Given the description of an element on the screen output the (x, y) to click on. 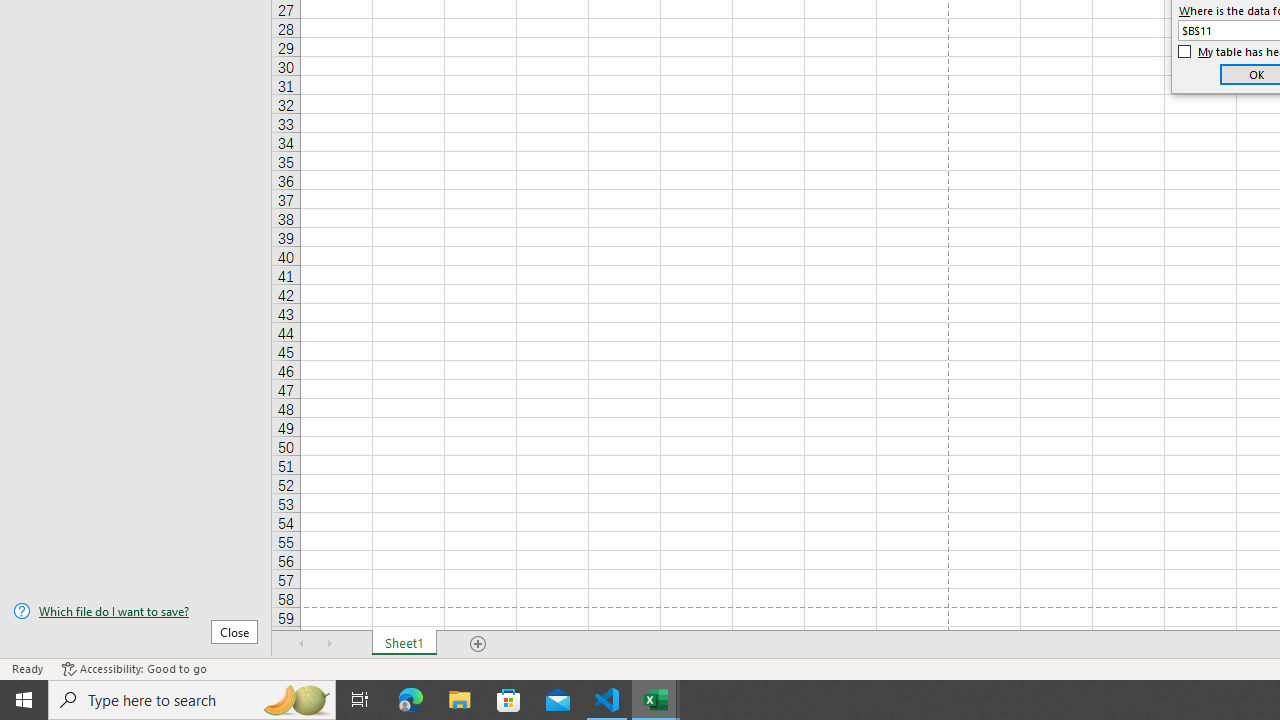
Which file do I want to save? (136, 611)
